Given the description of an element on the screen output the (x, y) to click on. 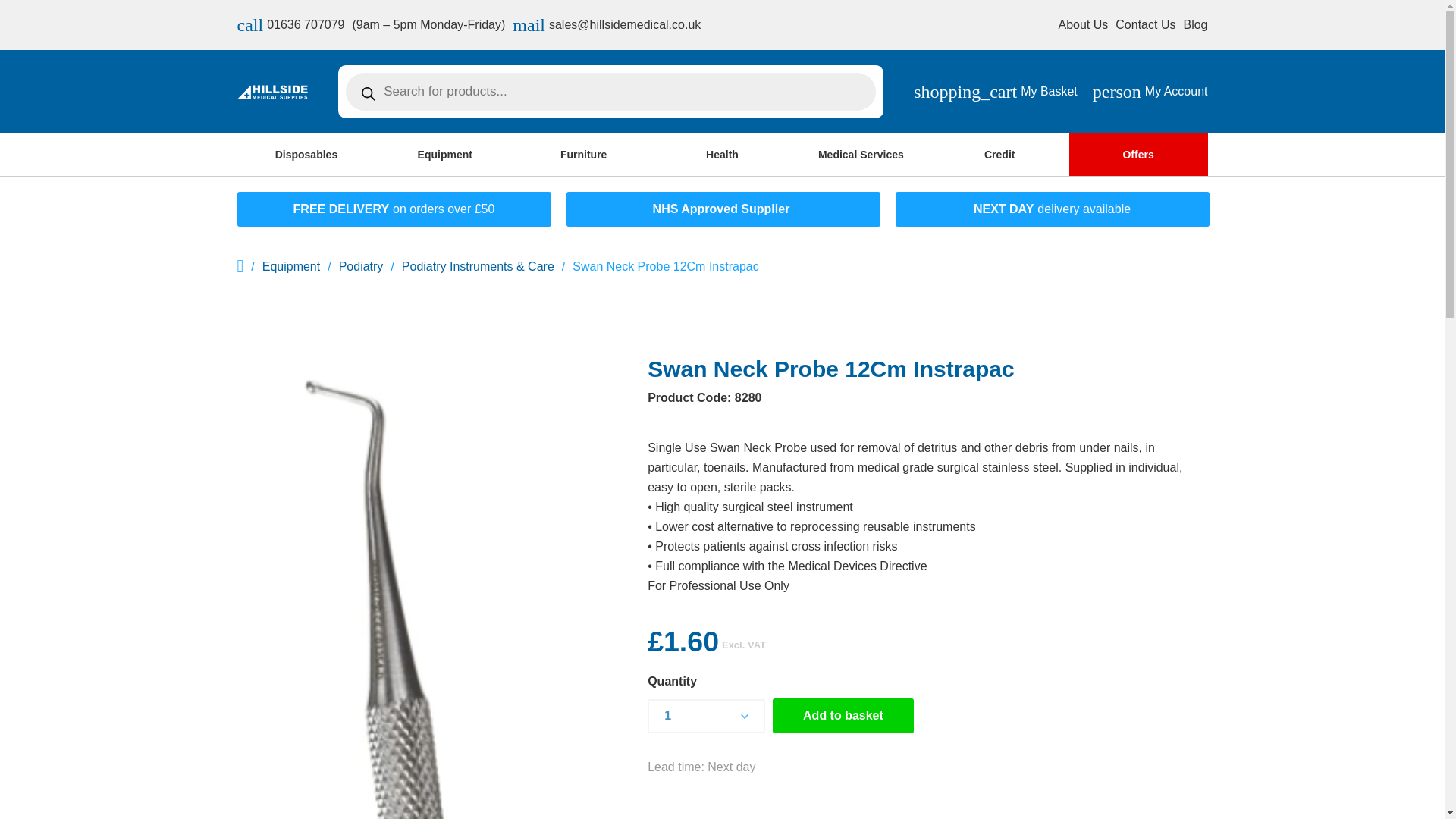
Disposables (289, 24)
Blog (305, 154)
About Us (1194, 24)
Contact Us (1083, 24)
Qty (1144, 24)
